Given the description of an element on the screen output the (x, y) to click on. 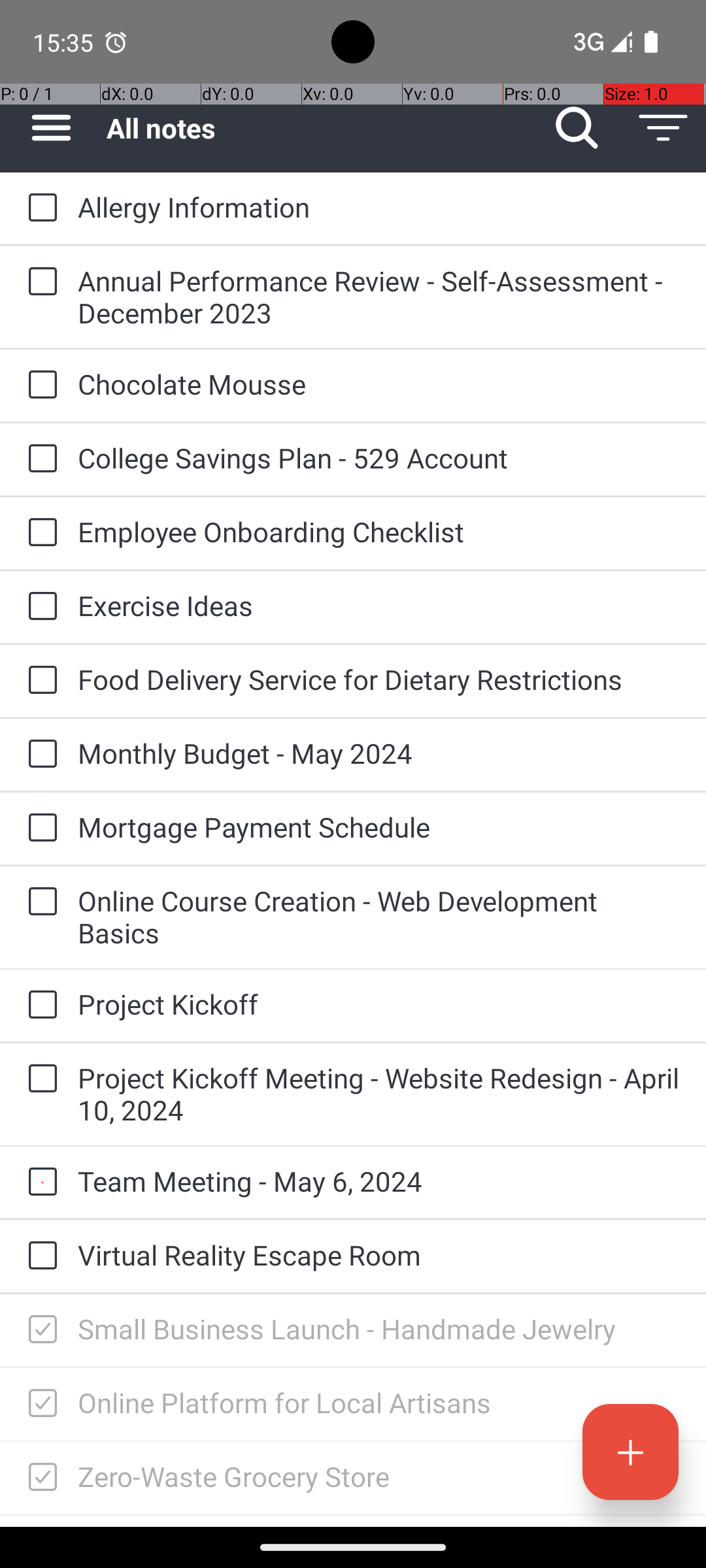
to-do: Chocolate Mousse Element type: android.widget.CheckBox (38, 385)
Chocolate Mousse Element type: android.widget.TextView (378, 383)
to-do: College Savings Plan - 529 Account Element type: android.widget.CheckBox (38, 459)
College Savings Plan - 529 Account Element type: android.widget.TextView (378, 457)
to-do: Employee Onboarding Checklist Element type: android.widget.CheckBox (38, 533)
Employee Onboarding Checklist Element type: android.widget.TextView (378, 531)
to-do: Monthly Budget - May 2024 Element type: android.widget.CheckBox (38, 754)
Monthly Budget - May 2024 Element type: android.widget.TextView (378, 752)
to-do: Mortgage Payment Schedule Element type: android.widget.CheckBox (38, 828)
Mortgage Payment Schedule Element type: android.widget.TextView (378, 826)
to-do: Project Kickoff Element type: android.widget.CheckBox (38, 1005)
Project Kickoff Element type: android.widget.TextView (378, 1003)
to-do: Project Kickoff Meeting - Website Redesign - April 10, 2024 Element type: android.widget.CheckBox (38, 1079)
Project Kickoff Meeting - Website Redesign - April 10, 2024 Element type: android.widget.TextView (378, 1093)
to-do: Virtual Reality Escape Room Element type: android.widget.CheckBox (38, 1256)
Virtual Reality Escape Room Element type: android.widget.TextView (378, 1254)
to-do: Small Business Launch - Handmade Jewelry Element type: android.widget.CheckBox (38, 1330)
Small Business Launch - Handmade Jewelry Element type: android.widget.TextView (378, 1328)
to-do: Online Platform for Local Artisans Element type: android.widget.CheckBox (38, 1403)
Online Platform for Local Artisans Element type: android.widget.TextView (378, 1402)
to-do: Zero-Waste Grocery Store Element type: android.widget.CheckBox (38, 1477)
Zero-Waste Grocery Store Element type: android.widget.TextView (378, 1475)
